Given the description of an element on the screen output the (x, y) to click on. 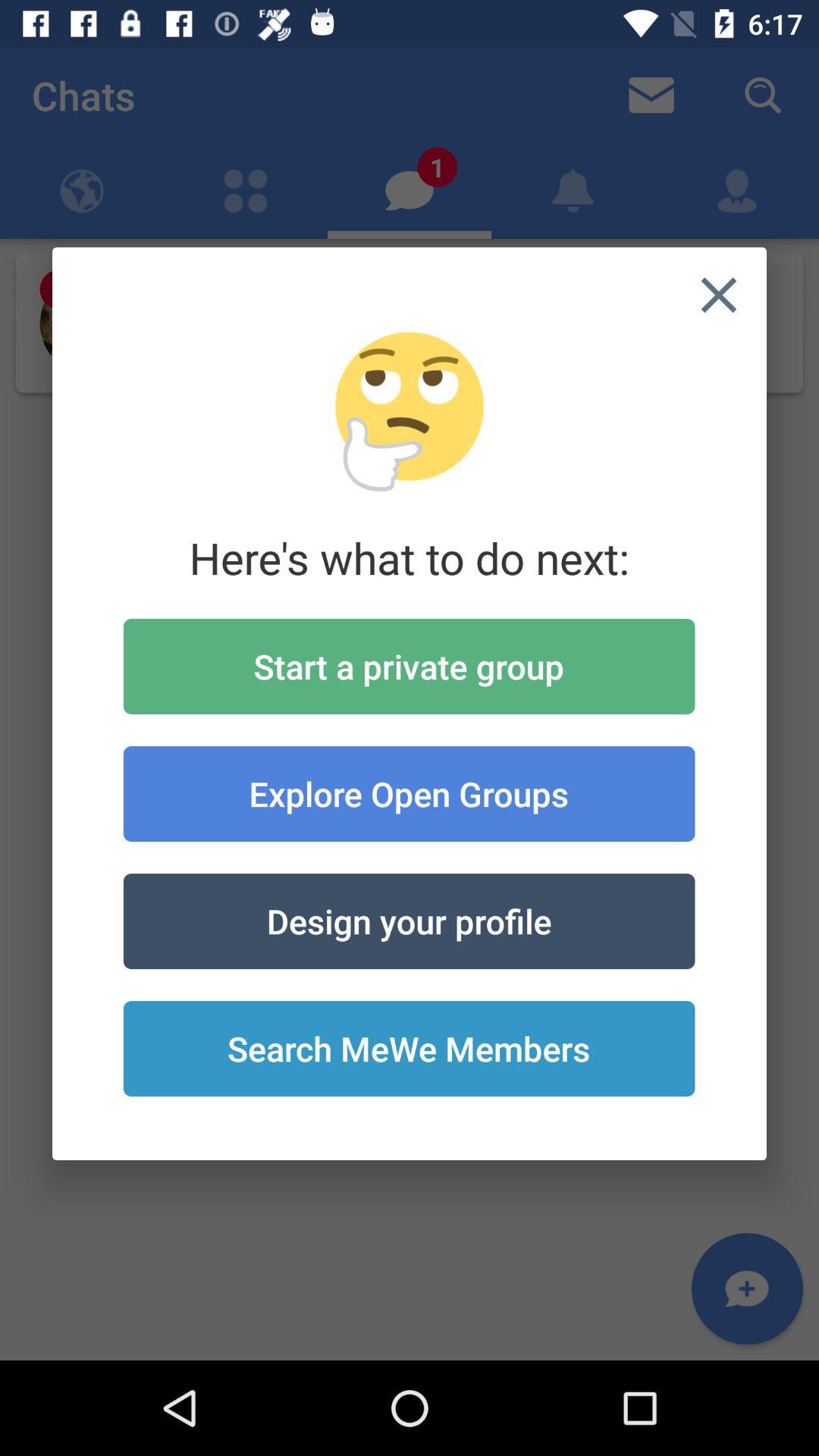
turn off start a private item (409, 666)
